Given the description of an element on the screen output the (x, y) to click on. 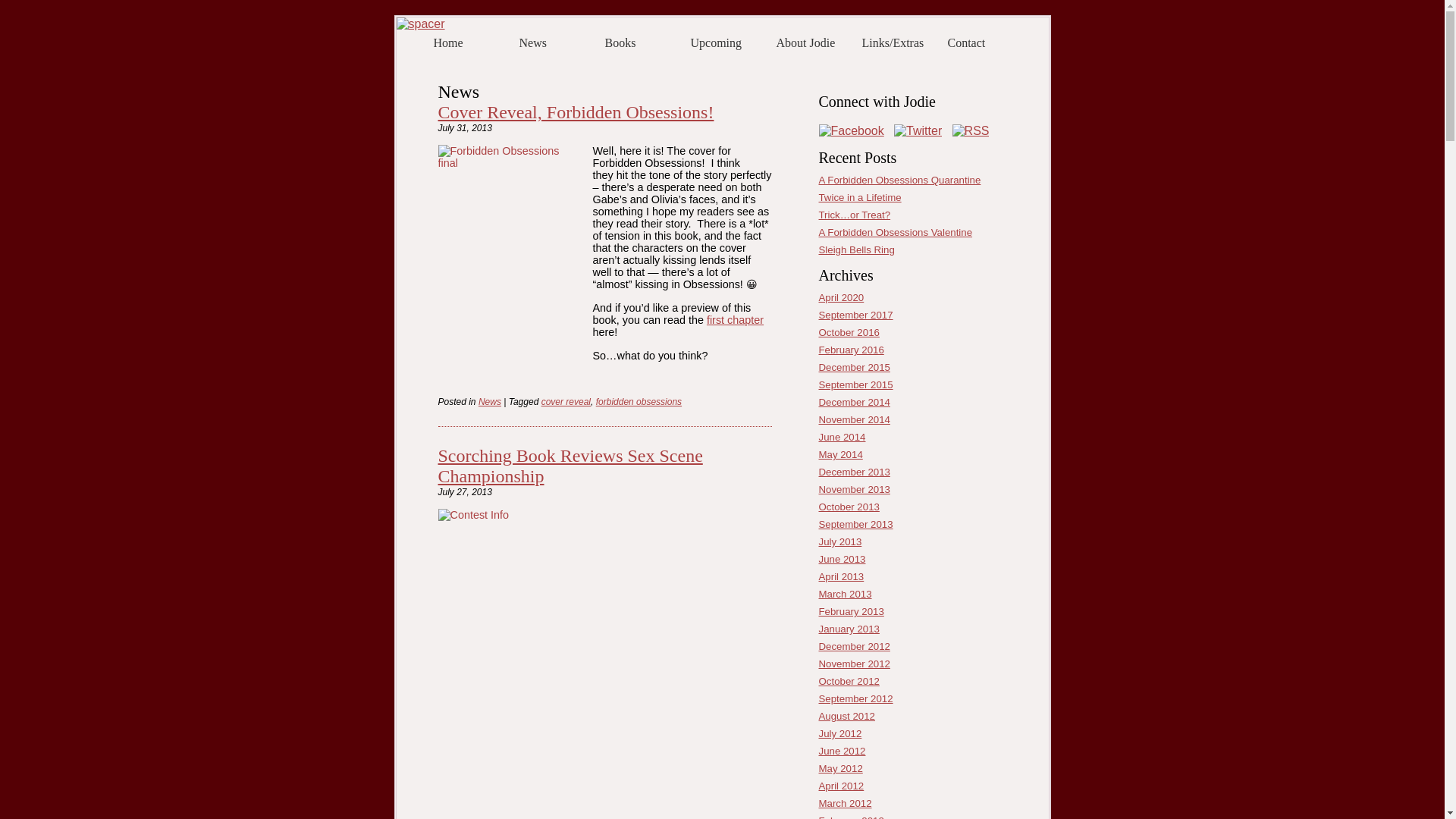
About Jodie (811, 41)
forbidden obsessions (638, 401)
Home (469, 41)
Books (639, 41)
News (553, 41)
first chapter (734, 319)
Contact (983, 41)
Upcoming (725, 41)
Scorching Book Reviews Sex Scene Championship (570, 465)
Permalink to Scorching Book Reviews Sex Scene Championship (570, 465)
Permalink to Cover Reveal, Forbidden Obsessions! (576, 112)
News (489, 401)
Cover Reveal, Forbidden Obsessions! (576, 112)
cover reveal (566, 401)
Forbidden Obsessions Excerpt (734, 319)
